Given the description of an element on the screen output the (x, y) to click on. 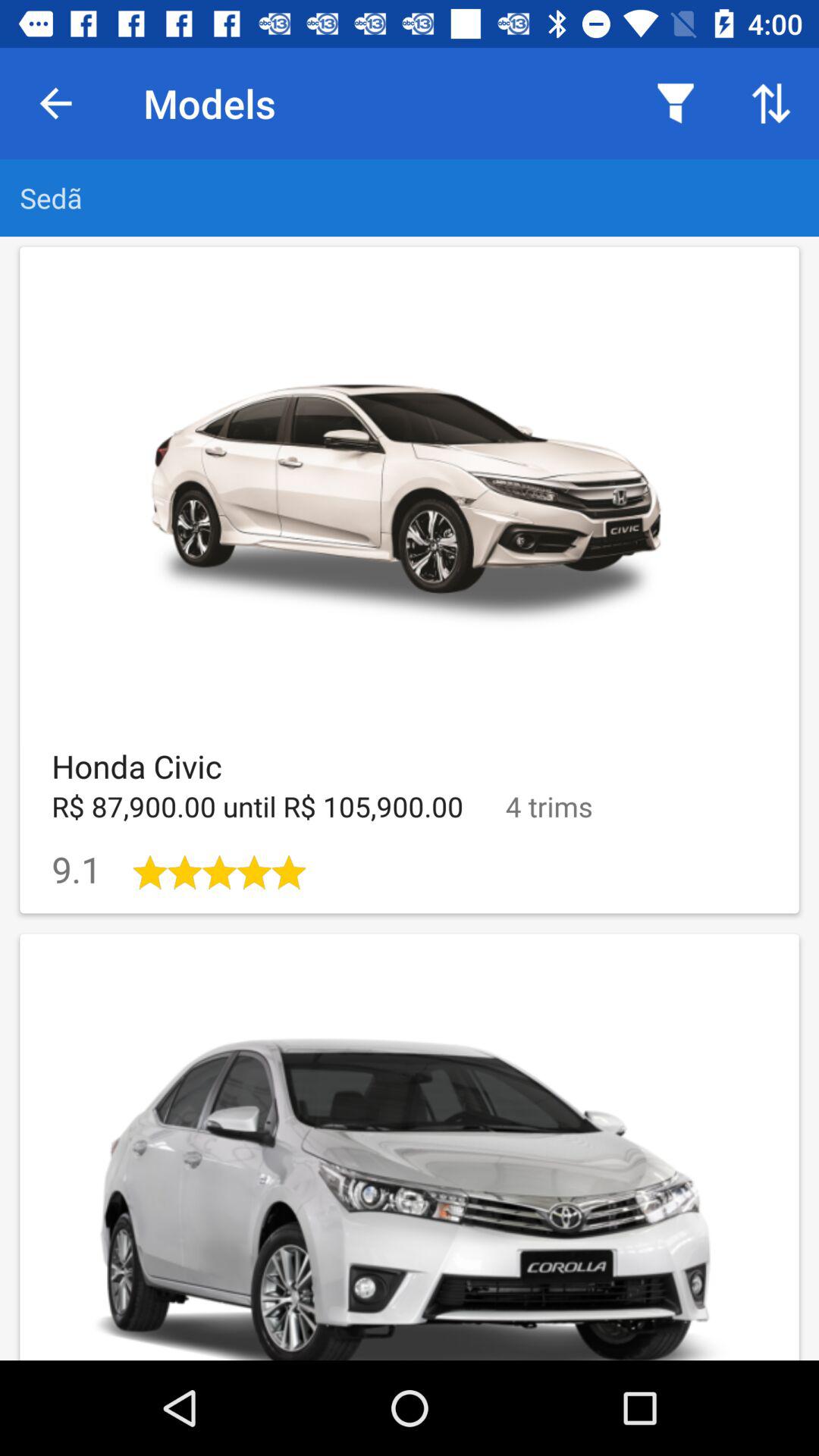
click item to the left of the models (55, 103)
